Given the description of an element on the screen output the (x, y) to click on. 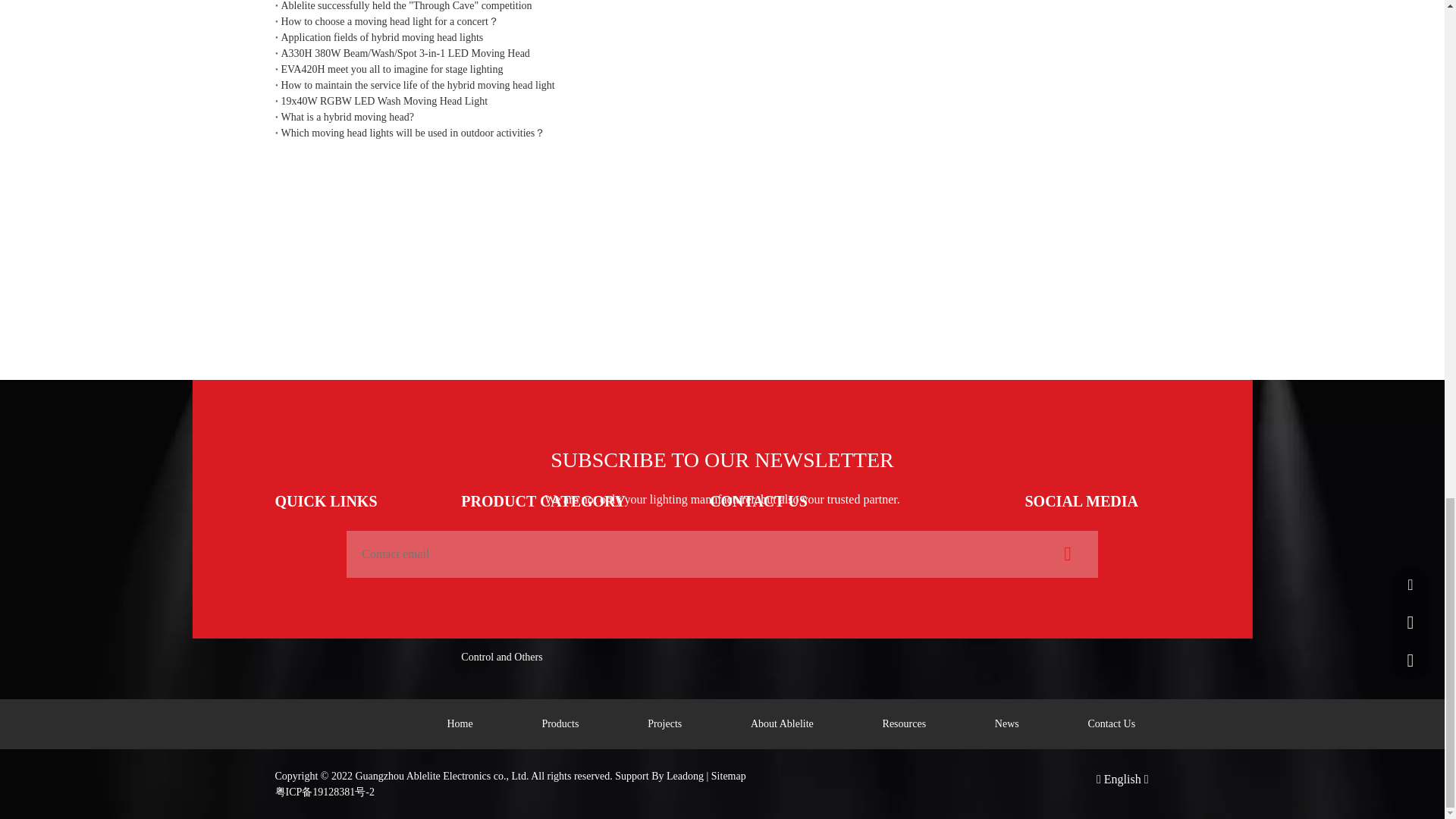
EVA420H meet you all to imagine for stage lighting (722, 68)
Application fields of hybrid moving head lights (722, 37)
Ablelite successfully held the "Through Cave" competition (722, 6)
Application fields of hybrid moving head lights (722, 37)
Service (290, 581)
What is a hybrid moving head? (722, 116)
Company Profile (311, 531)
Ablelite successfully held the "Through Cave" competition (722, 6)
19x40W RGBW LED Wash Moving Head Light (722, 100)
Certifications (303, 555)
